Given the description of an element on the screen output the (x, y) to click on. 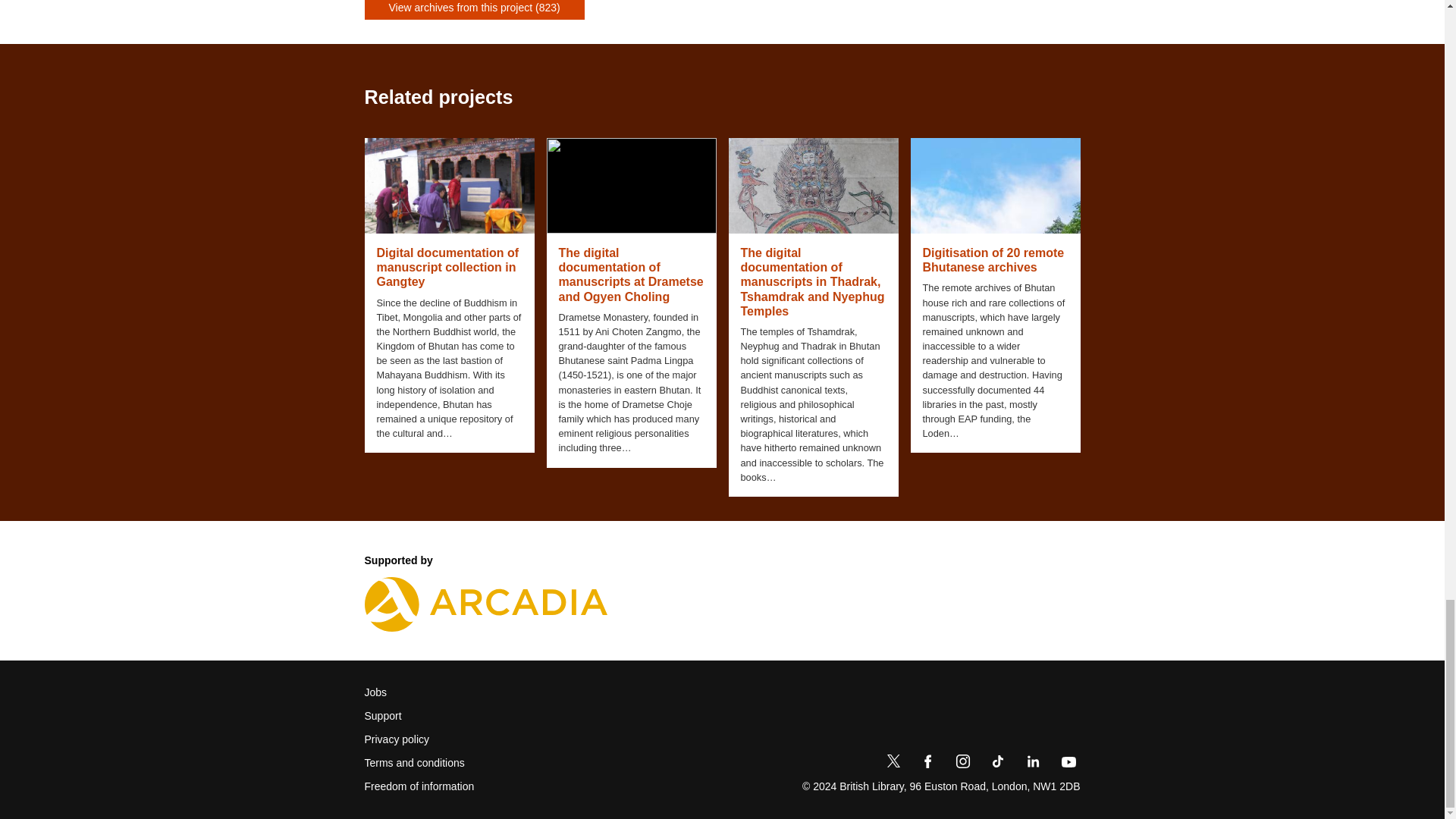
Digital documentation of manuscript collection in Gangtey (448, 267)
